Given the description of an element on the screen output the (x, y) to click on. 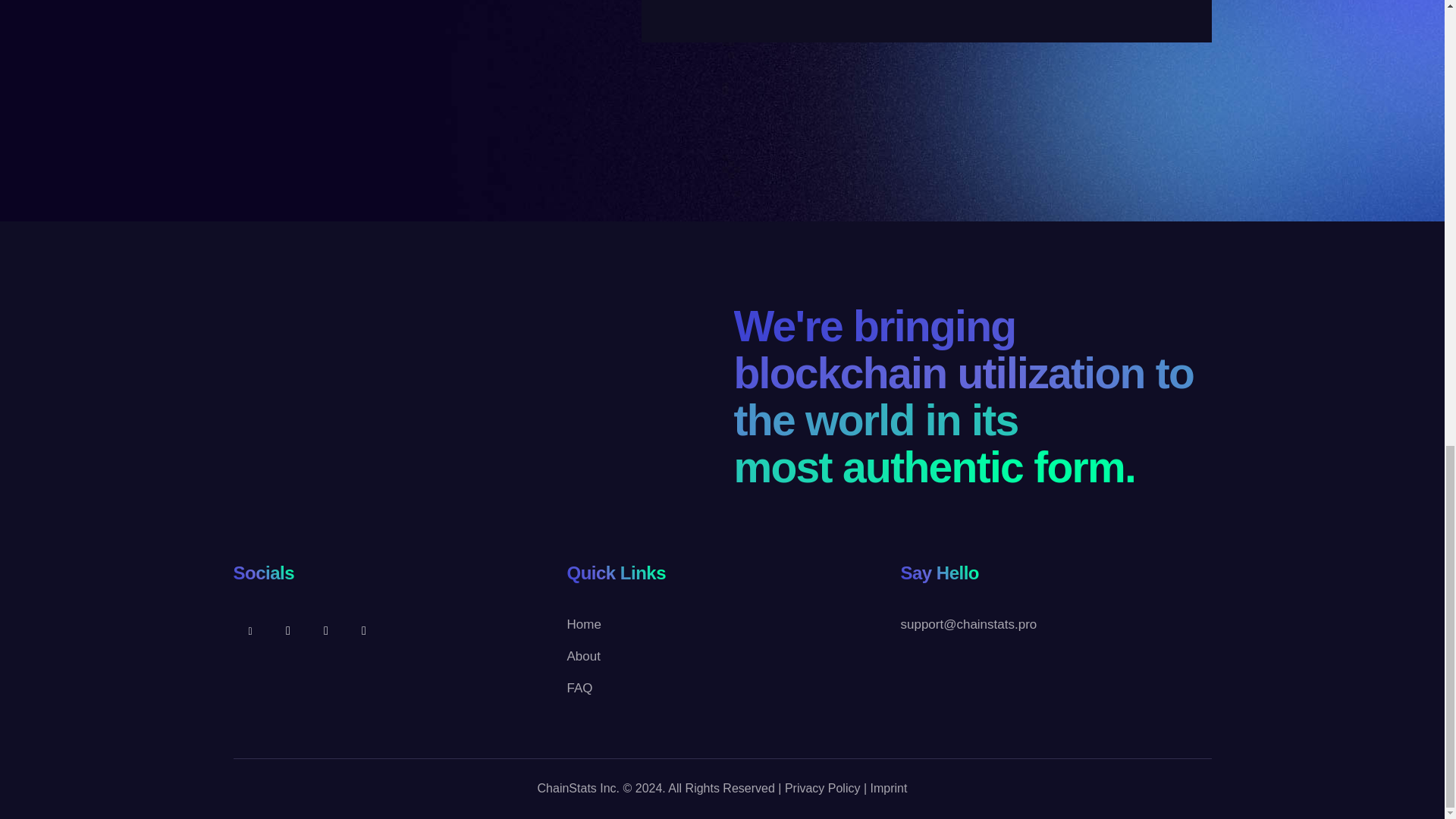
ChainStats Inc. (578, 788)
Privacy Policy (822, 788)
Imprint (888, 788)
FAQ (579, 688)
Home (582, 624)
About (582, 656)
